Given the description of an element on the screen output the (x, y) to click on. 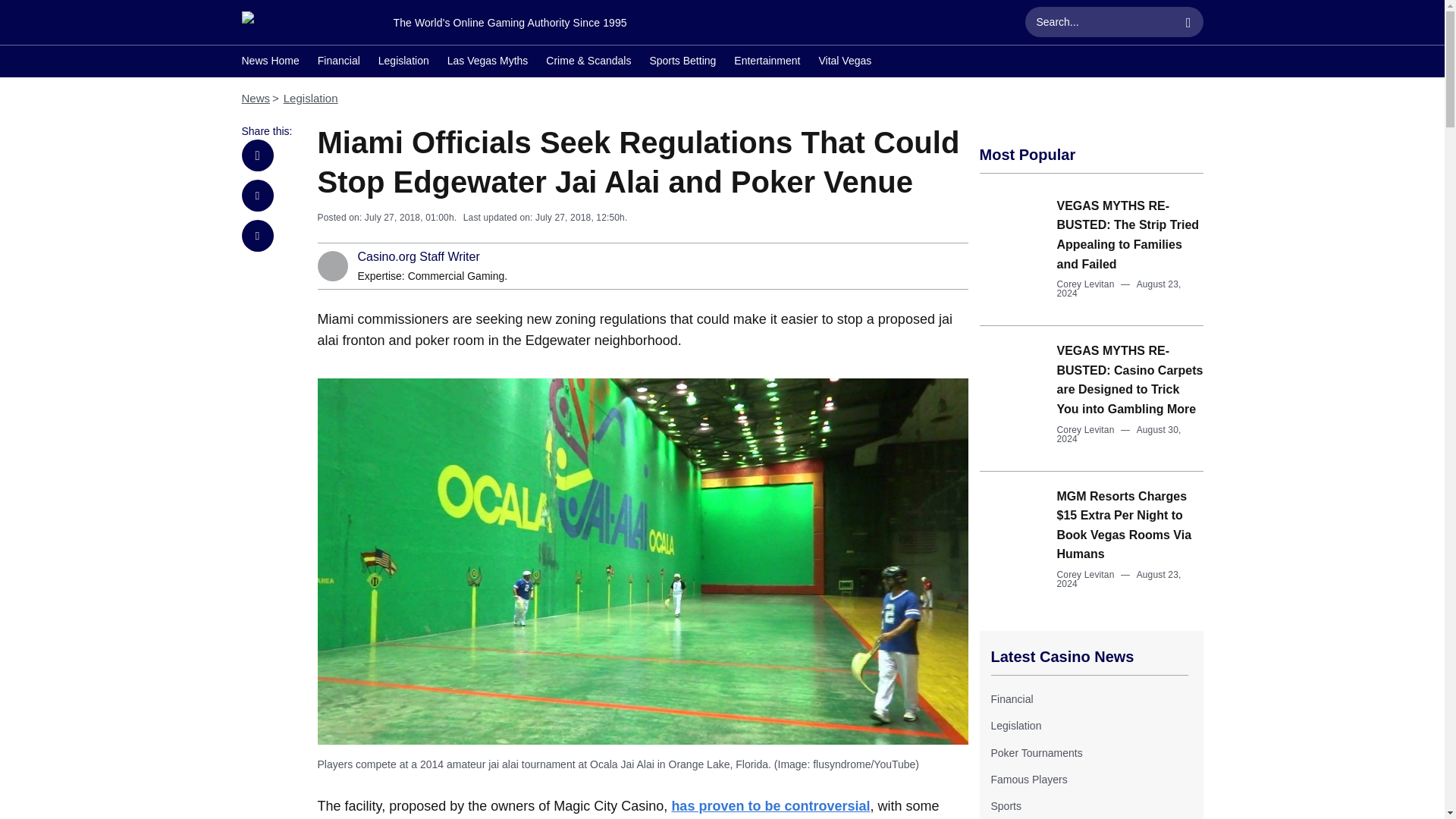
Corey Levitan (1086, 284)
Financial (1011, 698)
Famous Players (1028, 779)
Commercial Gaming (456, 275)
Casino.org Staff Writer (419, 256)
Financial (338, 61)
Sports (1005, 806)
Entertainment (766, 61)
Legislation (310, 97)
Corey Levitan (1086, 429)
